Given the description of an element on the screen output the (x, y) to click on. 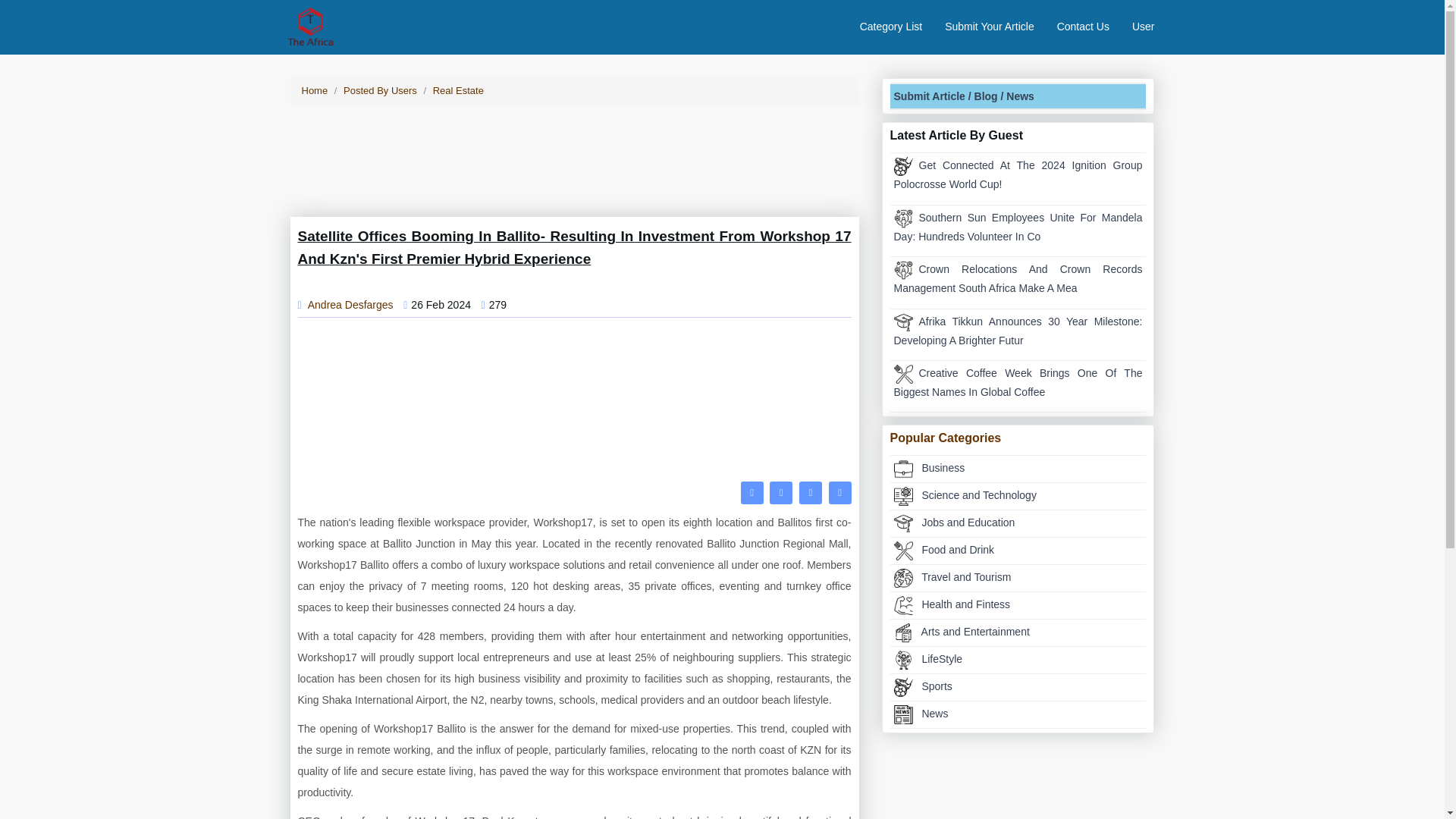
Advertisement (1017, 780)
Arts and Entertainment (1018, 633)
Jobs and Education (902, 523)
Arts and Entertainment (902, 632)
Food and Drink (902, 374)
Health and Fintess (902, 605)
LifeStyle (1018, 660)
People and Society (902, 218)
News (902, 714)
Advertisement (573, 403)
Science and Technology (902, 496)
Food and Drink (902, 550)
Business (902, 468)
